Given the description of an element on the screen output the (x, y) to click on. 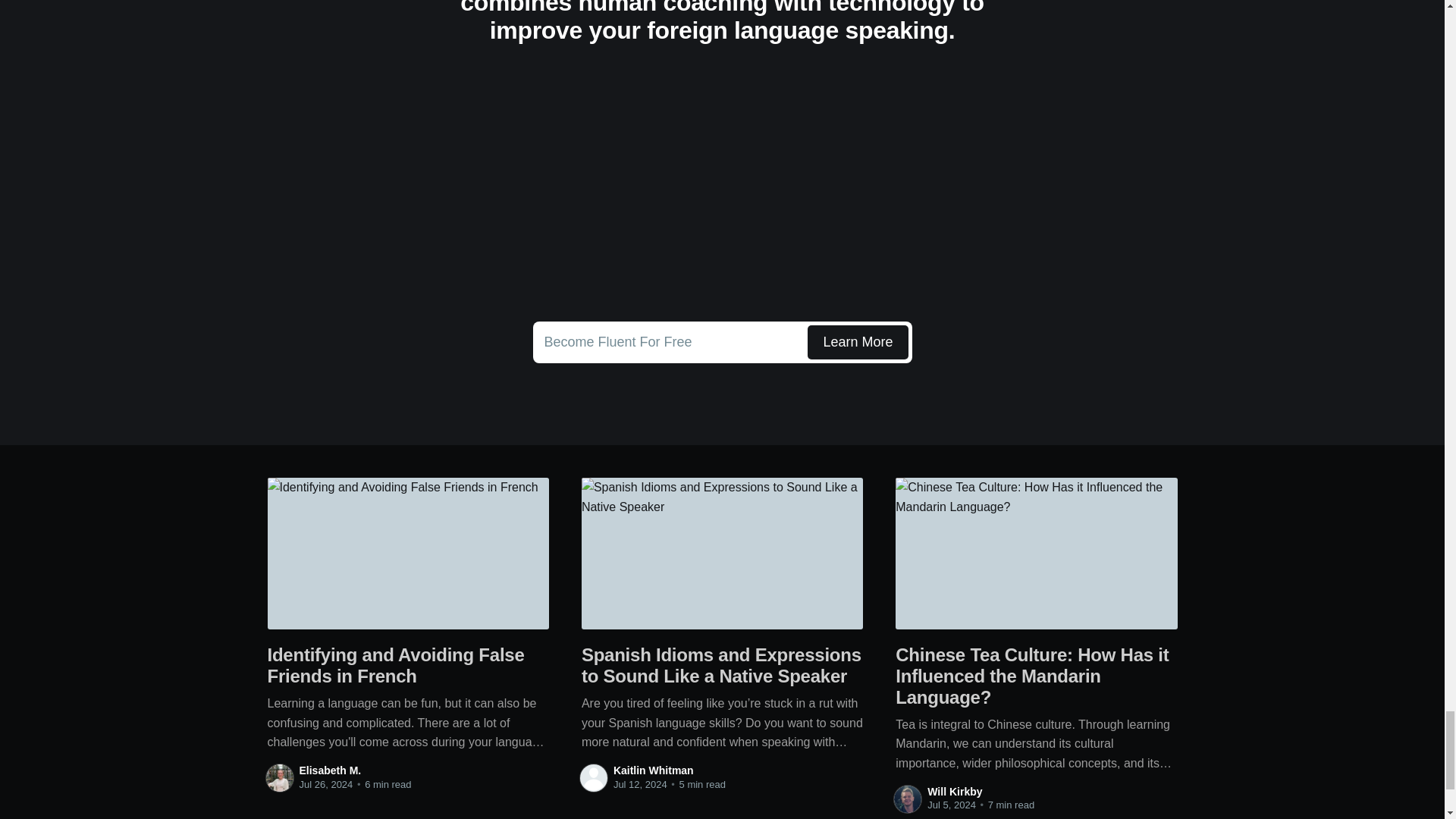
Will Kirkby (954, 791)
YouTube video player (721, 186)
Elisabeth M. (329, 770)
Kaitlin Whitman (721, 342)
